Given the description of an element on the screen output the (x, y) to click on. 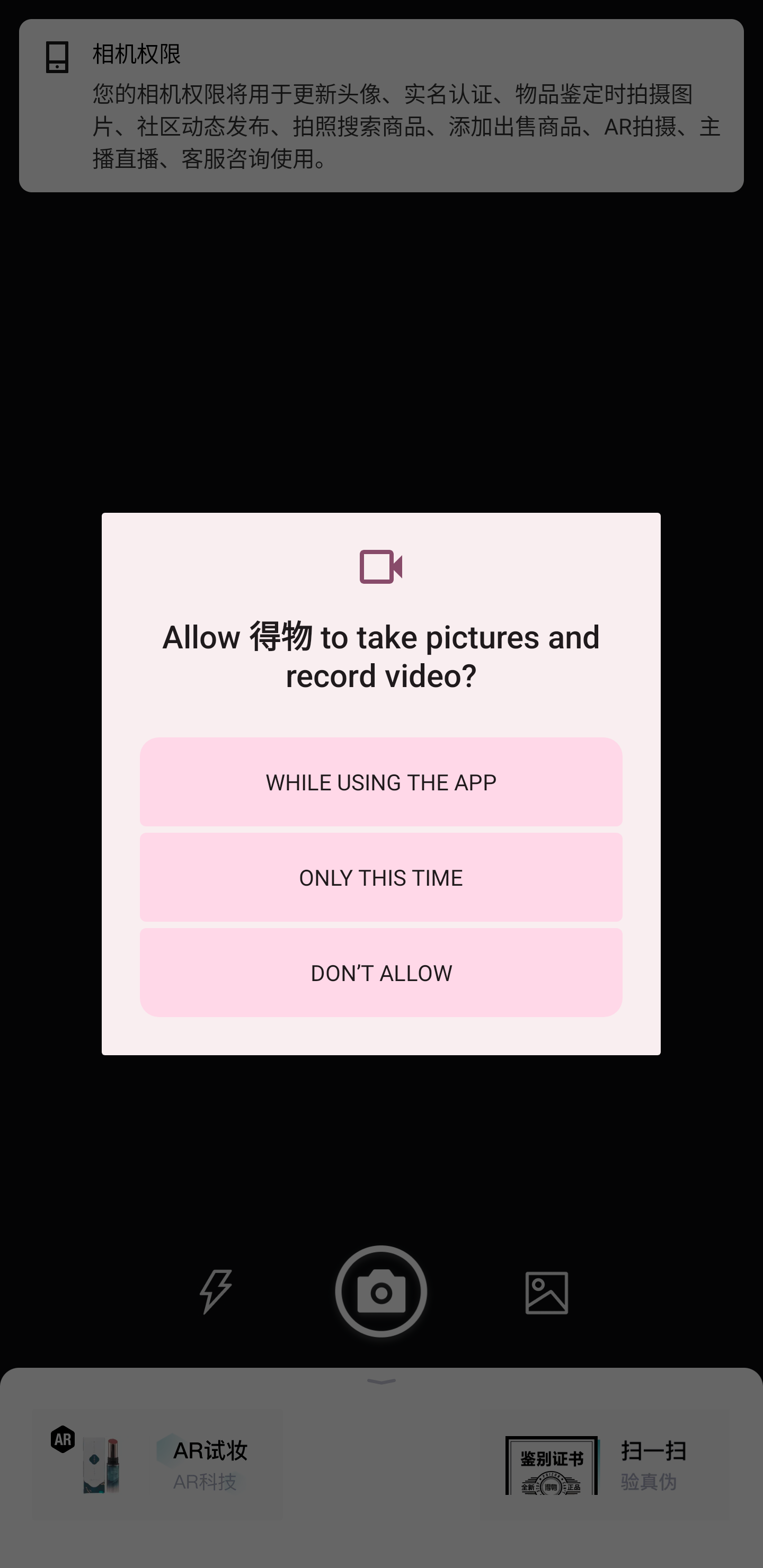
WHILE USING THE APP (380, 781)
ONLY THIS TIME (380, 876)
DON’T ALLOW (380, 972)
